Given the description of an element on the screen output the (x, y) to click on. 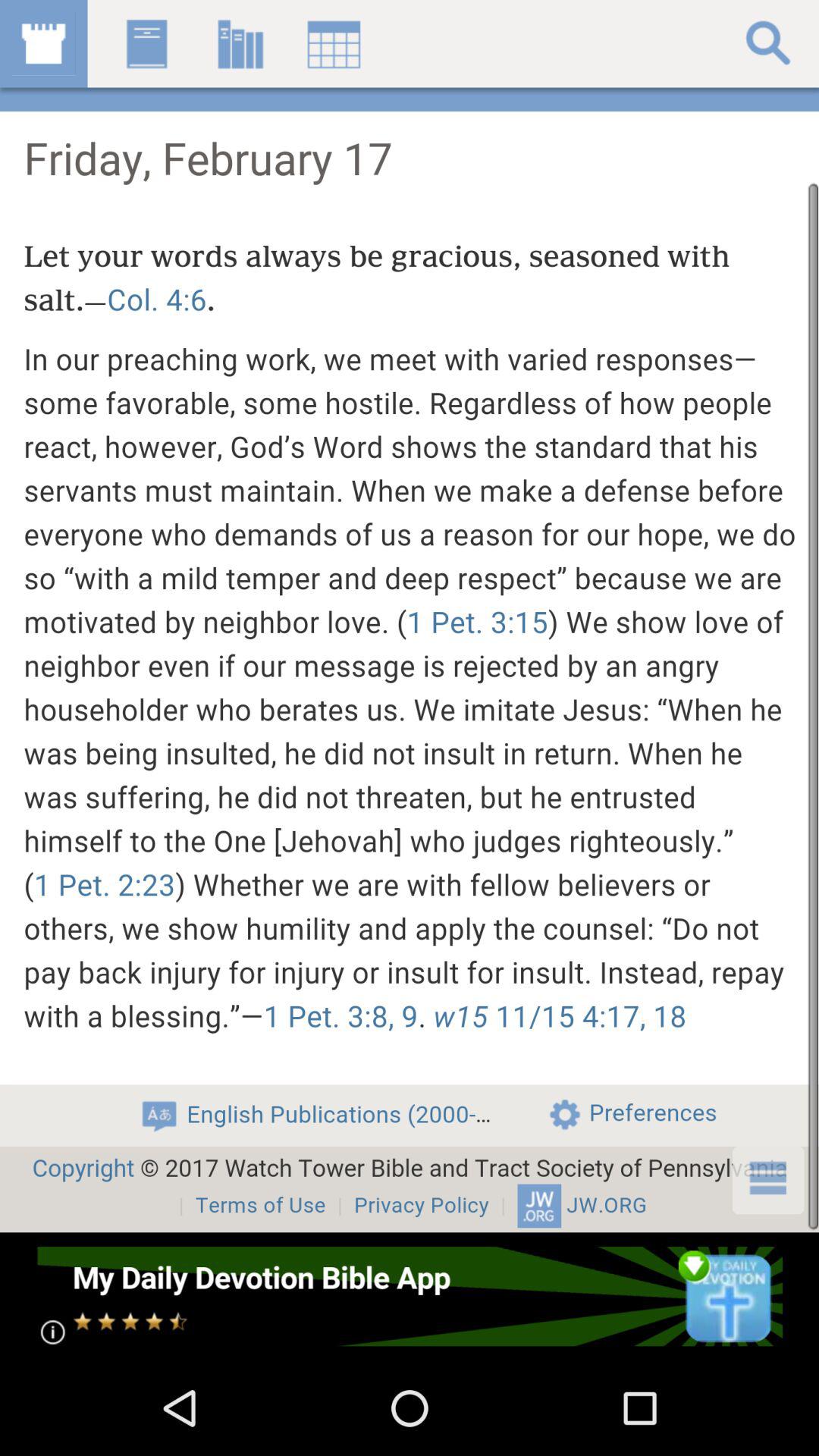
daily bible reader (408, 1296)
